Given the description of an element on the screen output the (x, y) to click on. 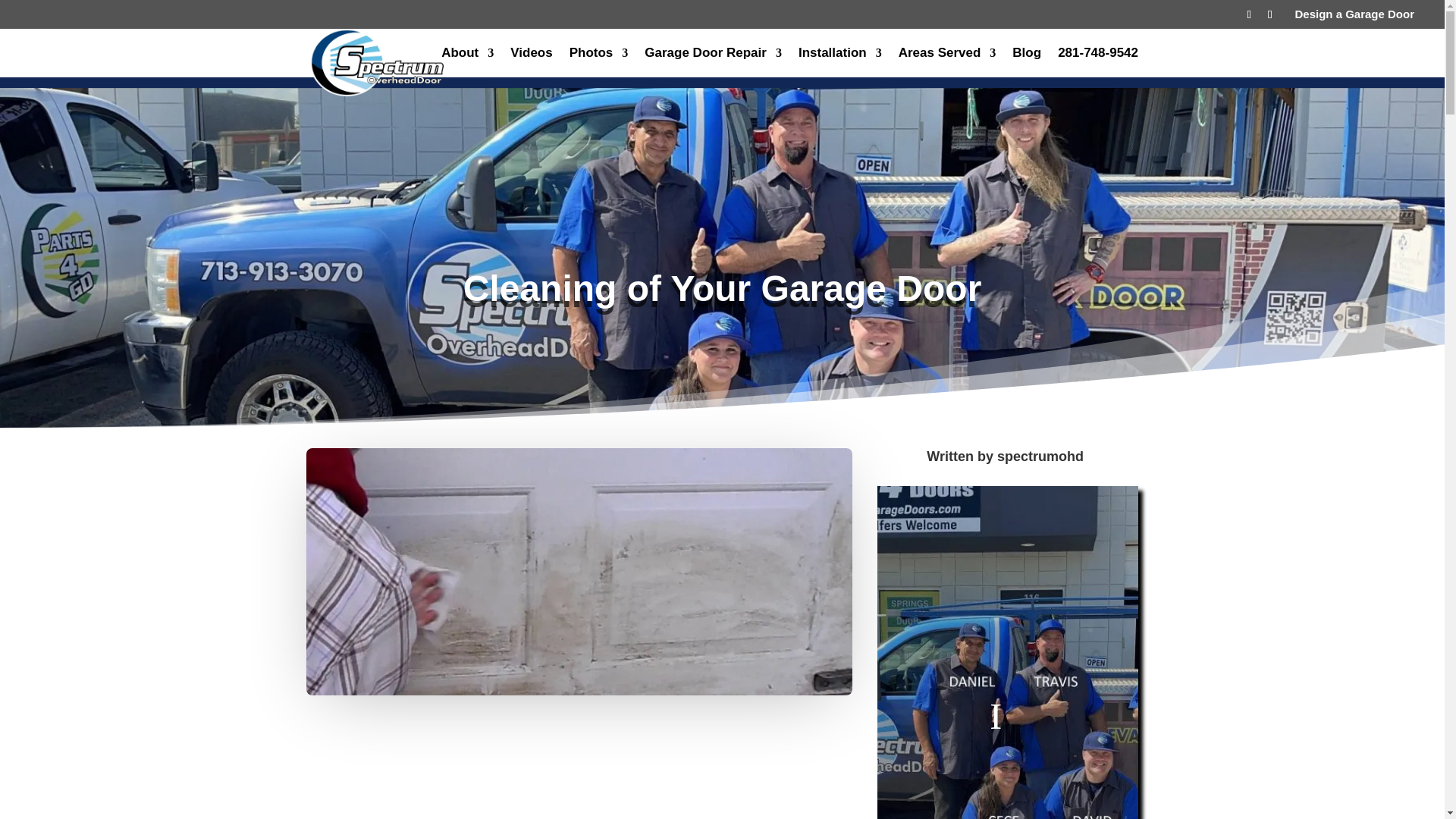
About (467, 61)
Garage Door Repair (713, 61)
Areas Served (946, 61)
Photos (598, 61)
In Houston Looking for Garage Door Service Near Me? (1007, 652)
Design a Garage Door (1358, 17)
Installation (839, 61)
Videos (531, 61)
